Given the description of an element on the screen output the (x, y) to click on. 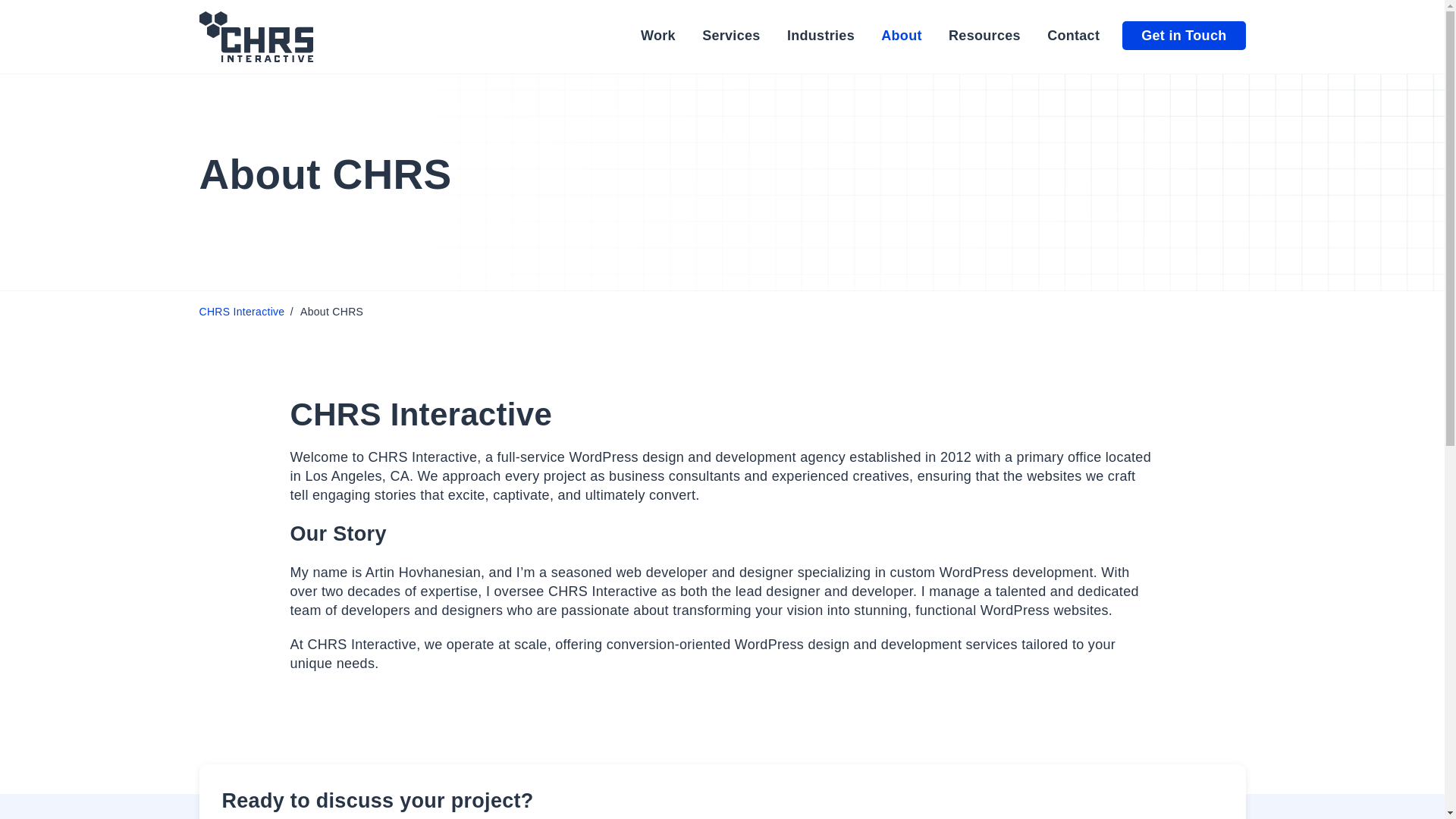
Homepage (255, 36)
Resources (984, 35)
Industries (820, 35)
Contact (1072, 35)
CHRS Interactive (240, 311)
Work (657, 35)
Get in Touch (1183, 35)
Services (730, 35)
About (900, 35)
